Given the description of an element on the screen output the (x, y) to click on. 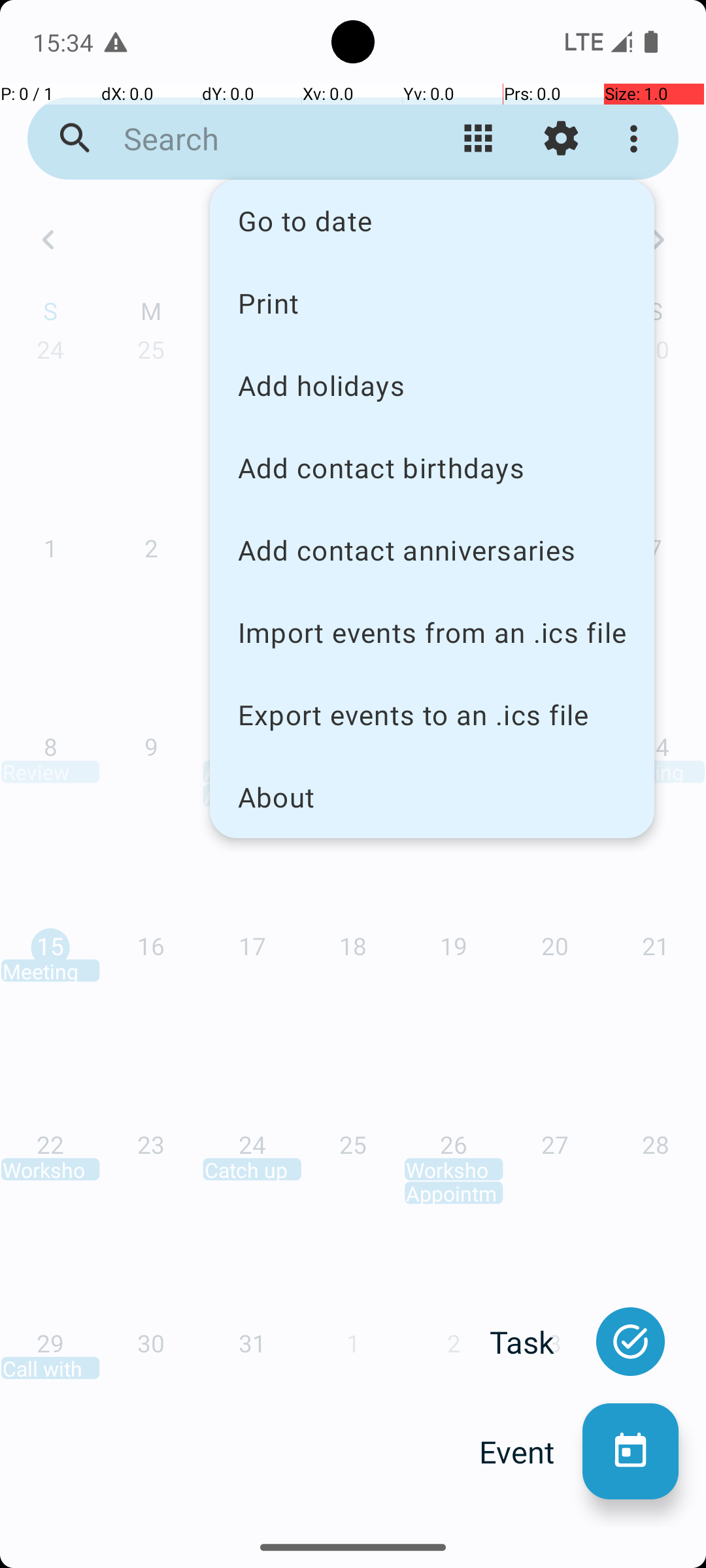
Go to date Element type: android.widget.TextView (431, 220)
Print Element type: android.widget.TextView (431, 302)
Add holidays Element type: android.widget.TextView (431, 384)
Add contact birthdays Element type: android.widget.TextView (431, 467)
Add contact anniversaries Element type: android.widget.TextView (431, 549)
Import events from an .ics file Element type: android.widget.TextView (431, 631)
Export events to an .ics file Element type: android.widget.TextView (431, 714)
